Given the description of an element on the screen output the (x, y) to click on. 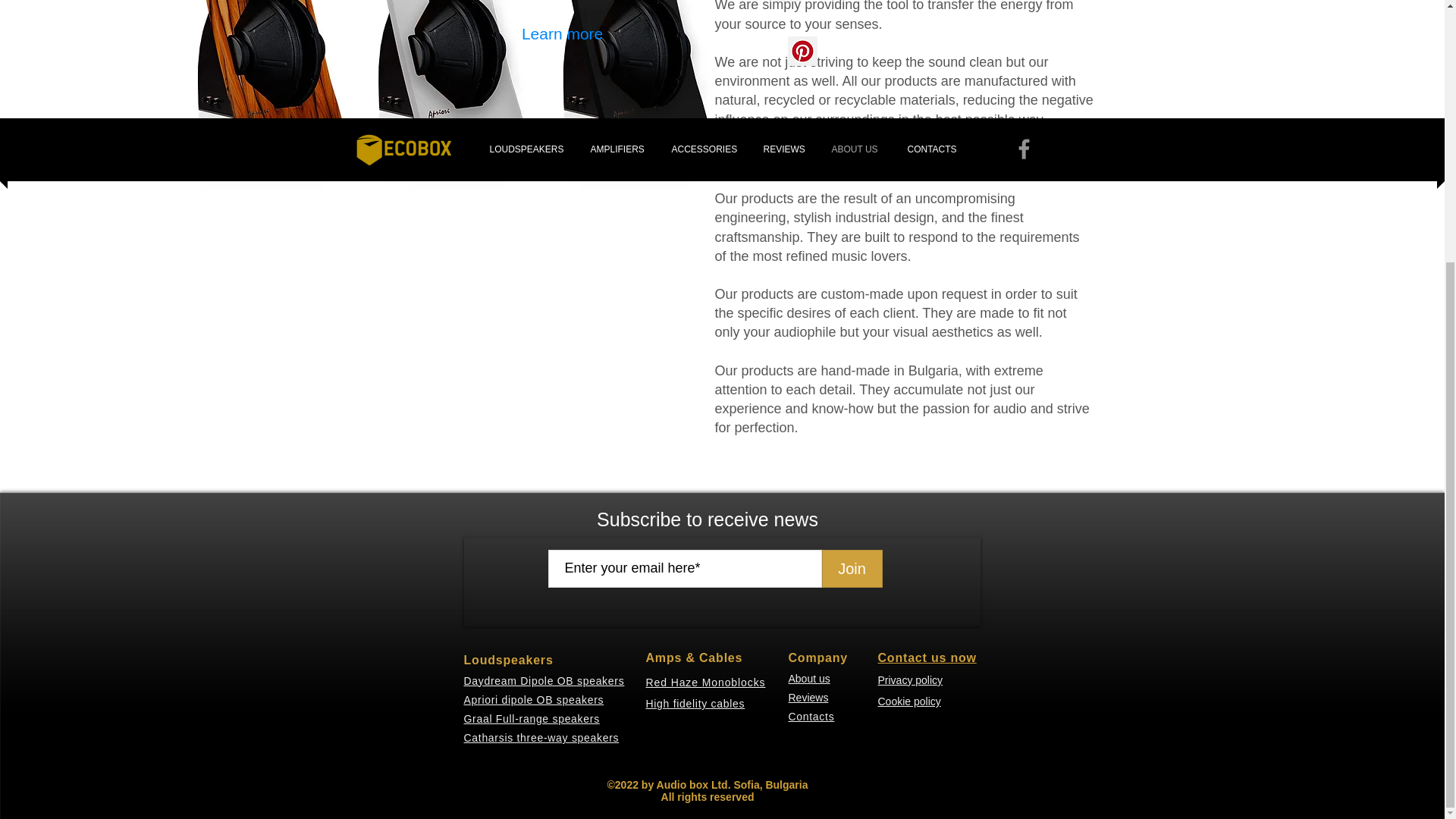
Privacy policy (910, 679)
About us (809, 678)
Red Haze Monoblocks (705, 681)
Catharsis three-way speakers (542, 737)
Contact us now (926, 657)
Graal Full-range speakers (531, 718)
Reviews (808, 697)
Cookie policy (908, 700)
Join (852, 568)
Contacts (811, 716)
